Given the description of an element on the screen output the (x, y) to click on. 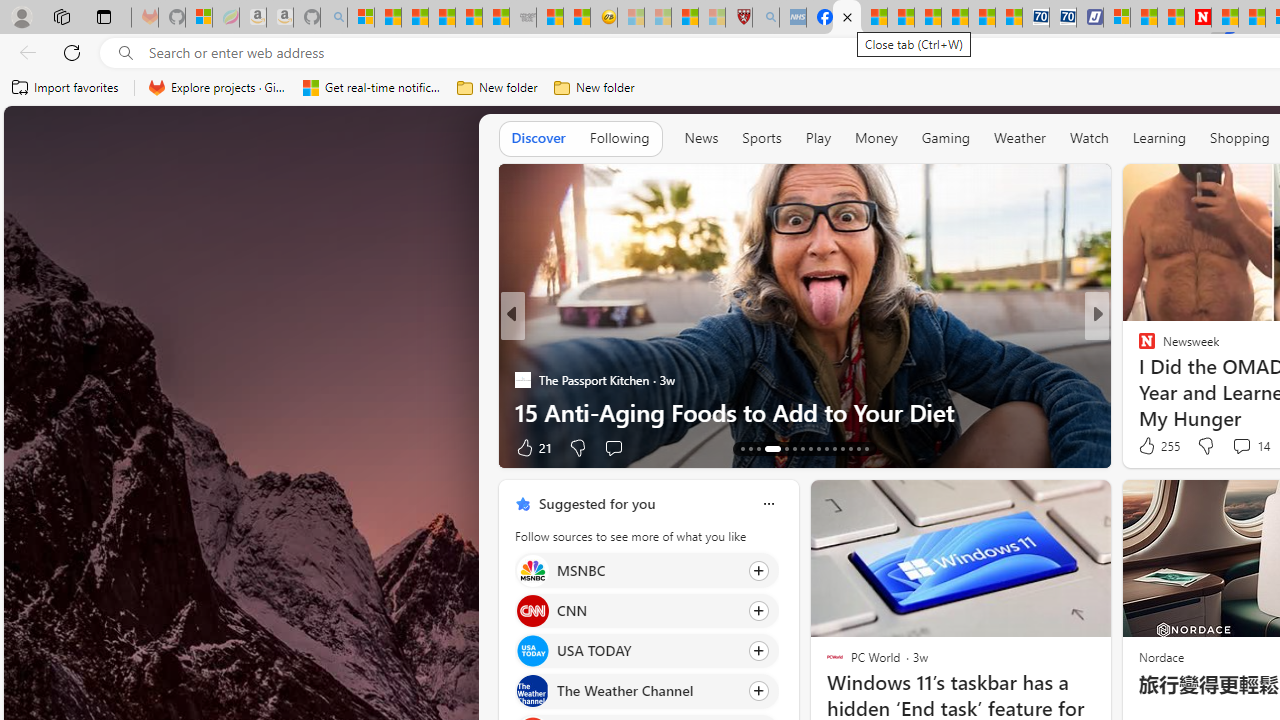
9 Like (1145, 447)
MSNBC (532, 569)
View comments 114 Comment (1234, 447)
View comments 23 Comment (1234, 447)
AutomationID: tab-66 (742, 448)
255 Like (1157, 446)
ETNT Mind+Body (1138, 347)
